Given the description of an element on the screen output the (x, y) to click on. 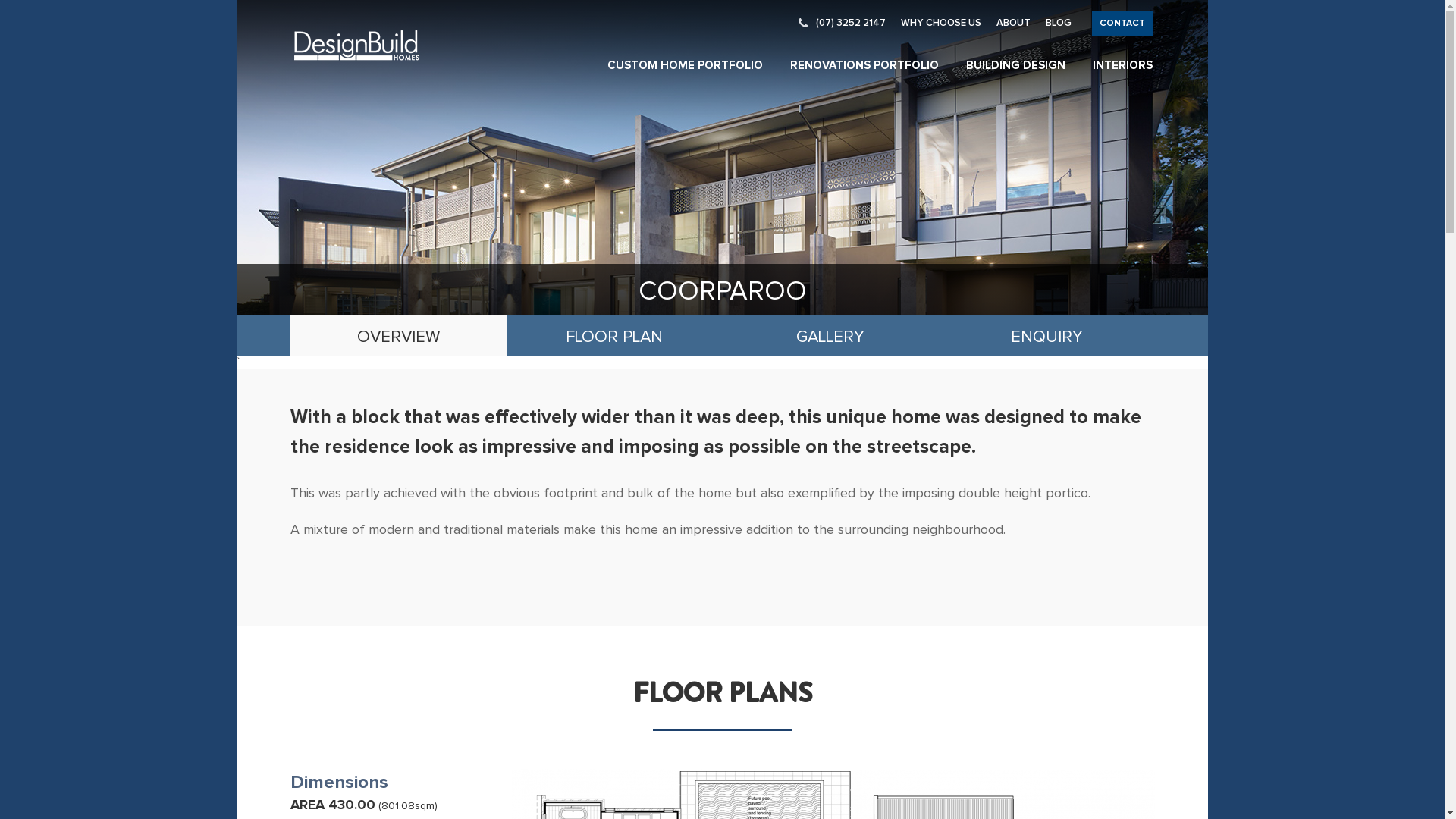
BUILDING DESIGN Element type: text (1015, 64)
WHY CHOOSE US Element type: text (940, 23)
INTERIORS Element type: text (1121, 64)
ABOUT Element type: text (1013, 23)
CUSTOM HOME PORTFOLIO Element type: text (684, 64)
OVERVIEW Element type: text (397, 335)
FLOOR PLAN Element type: text (614, 335)
CONTACT Element type: text (1122, 23)
RENOVATIONS PORTFOLIO Element type: text (864, 64)
(07) 3252 2147 Element type: text (840, 23)
BLOG Element type: text (1057, 23)
ENQUIRY Element type: text (1046, 335)
GALLERY Element type: text (829, 335)
